Given the description of an element on the screen output the (x, y) to click on. 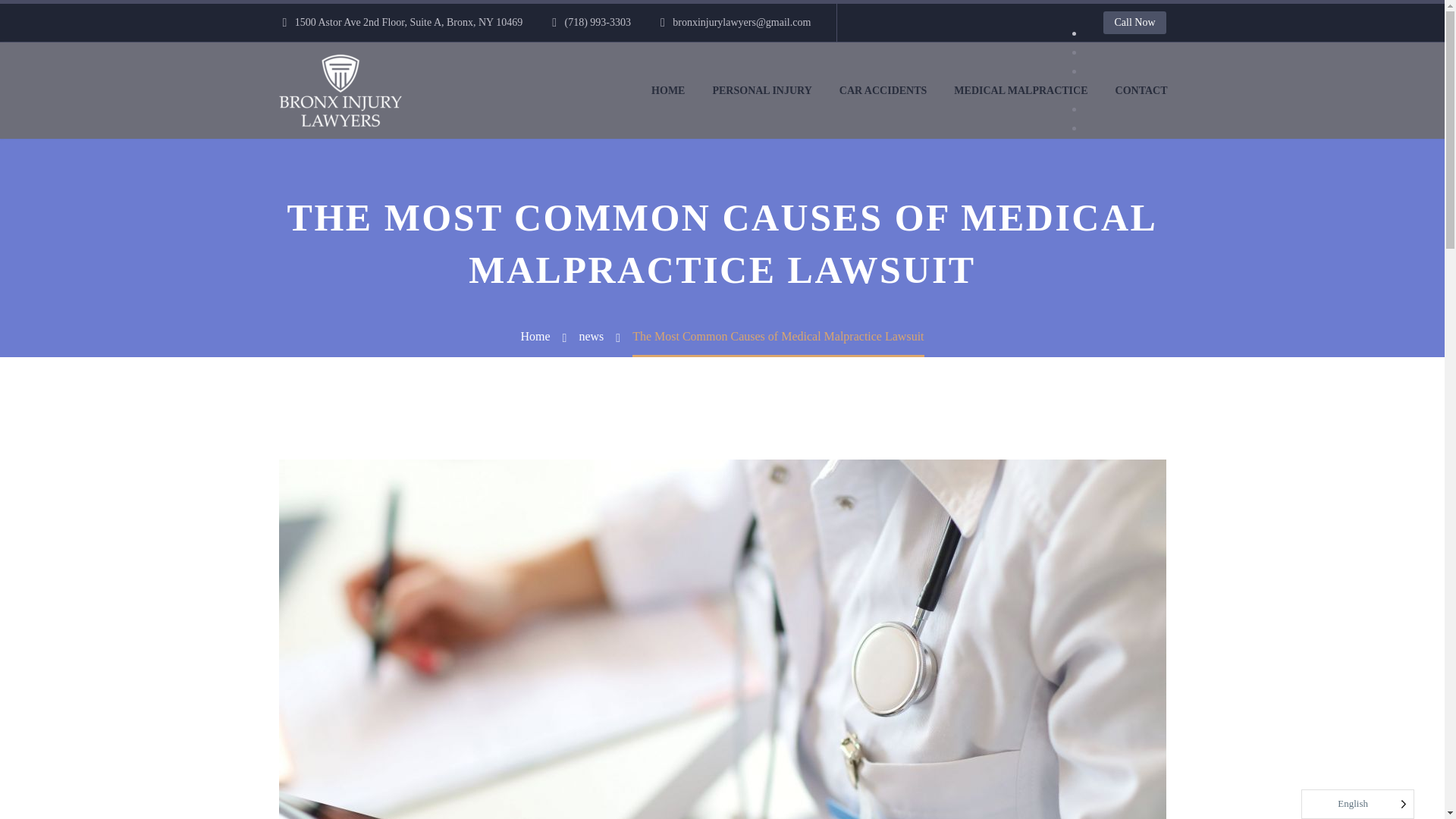
HOME (667, 90)
1500 Astor Ave 2nd Floor, Suite A, Bronx, NY 10469 (408, 21)
PERSONAL INJURY (761, 90)
CAR ACCIDENTS (883, 90)
Call Now (1134, 22)
